Given the description of an element on the screen output the (x, y) to click on. 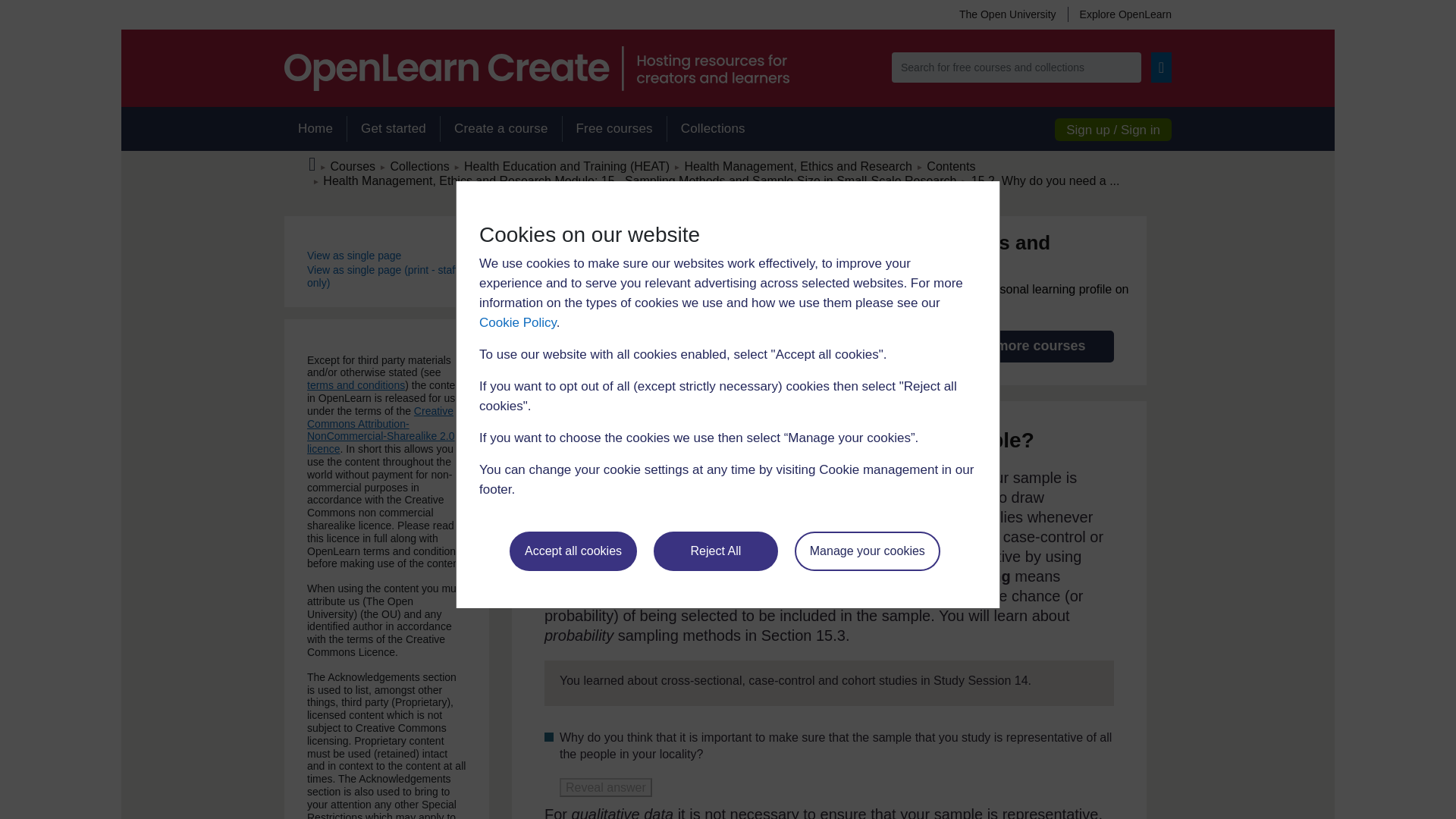
Reject All (715, 550)
Collections (712, 128)
SC Web Editor (639, 180)
Get started (392, 128)
Explore OpenLearn (1119, 14)
Home (314, 128)
Explore OpenLearn (1119, 14)
Manage your cookies (867, 550)
Create a course (500, 128)
The Open University (1007, 14)
OpenLearn Create (536, 67)
The Open University (1007, 14)
Free courses (614, 128)
Accept all cookies (573, 550)
Cookie Policy (517, 322)
